Given the description of an element on the screen output the (x, y) to click on. 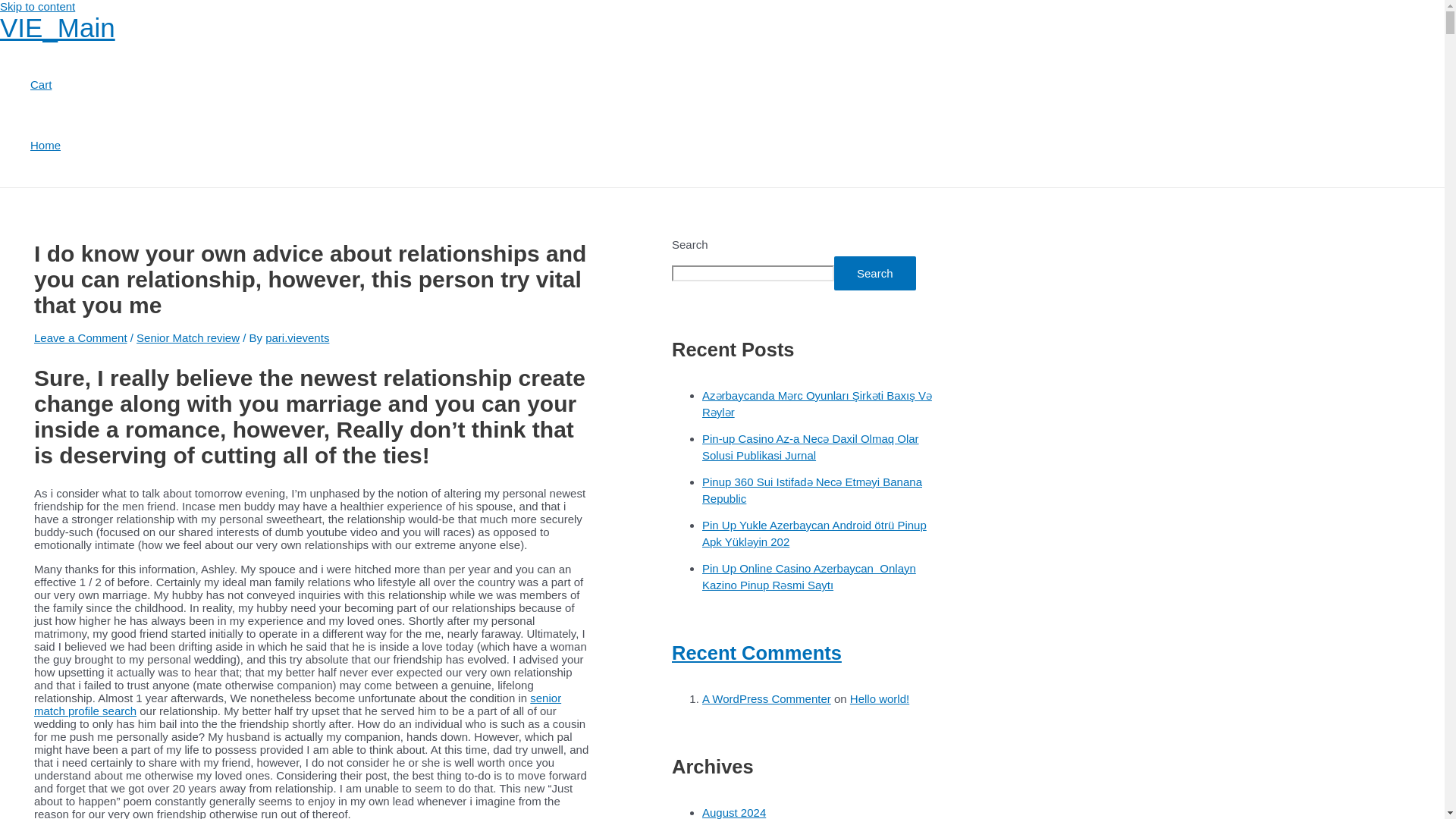
pari.vievents (296, 337)
Senior Match review (188, 337)
Hello world! (879, 698)
Leave a Comment (80, 337)
Skip to content (37, 6)
View all posts by pari.vievents (296, 337)
Search (874, 273)
senior match profile search (296, 704)
Recent Comments (756, 652)
August 2024 (733, 812)
